Given the description of an element on the screen output the (x, y) to click on. 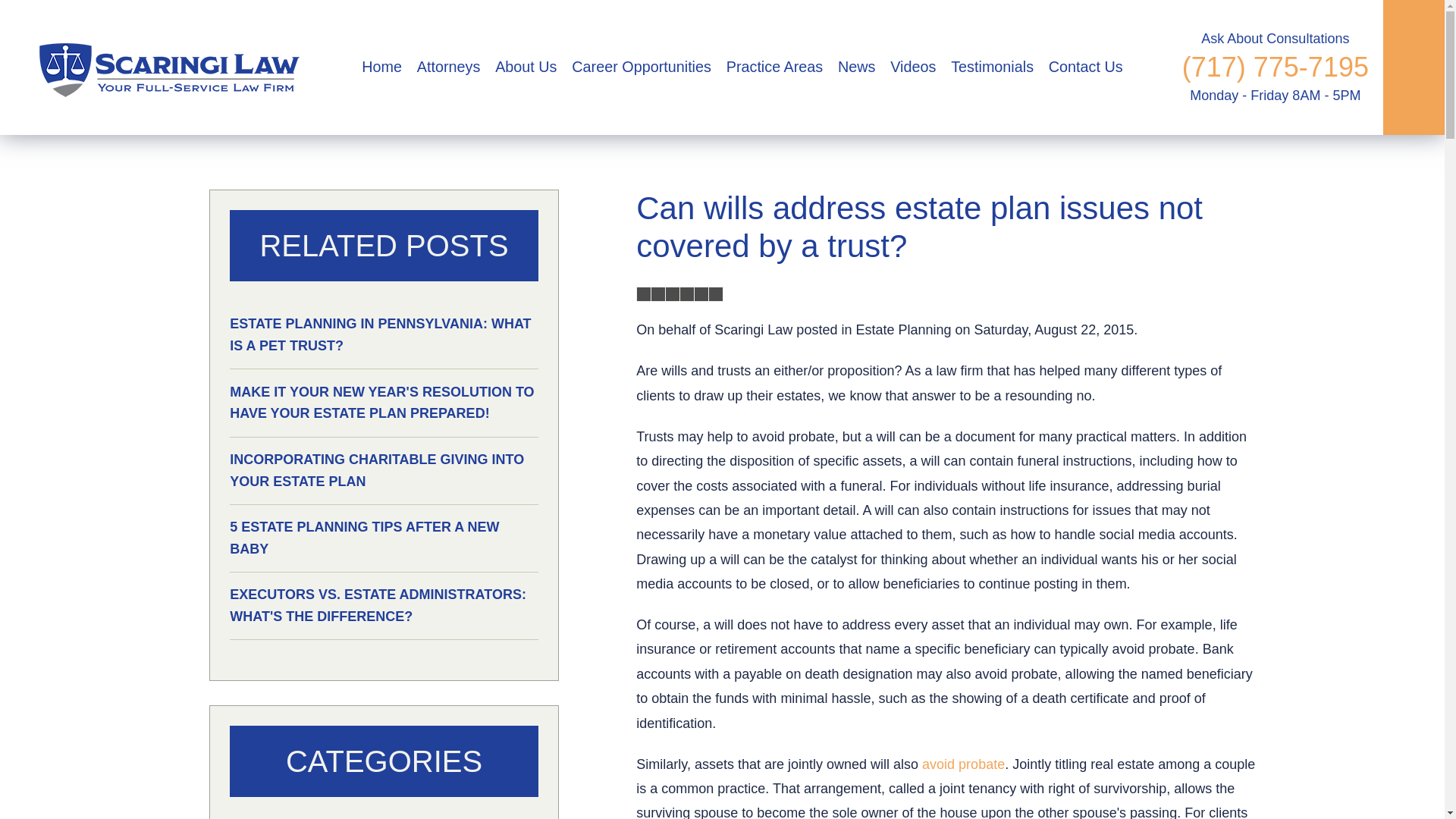
Career Opportunities (640, 67)
Scaringi Law (164, 67)
